Given the description of an element on the screen output the (x, y) to click on. 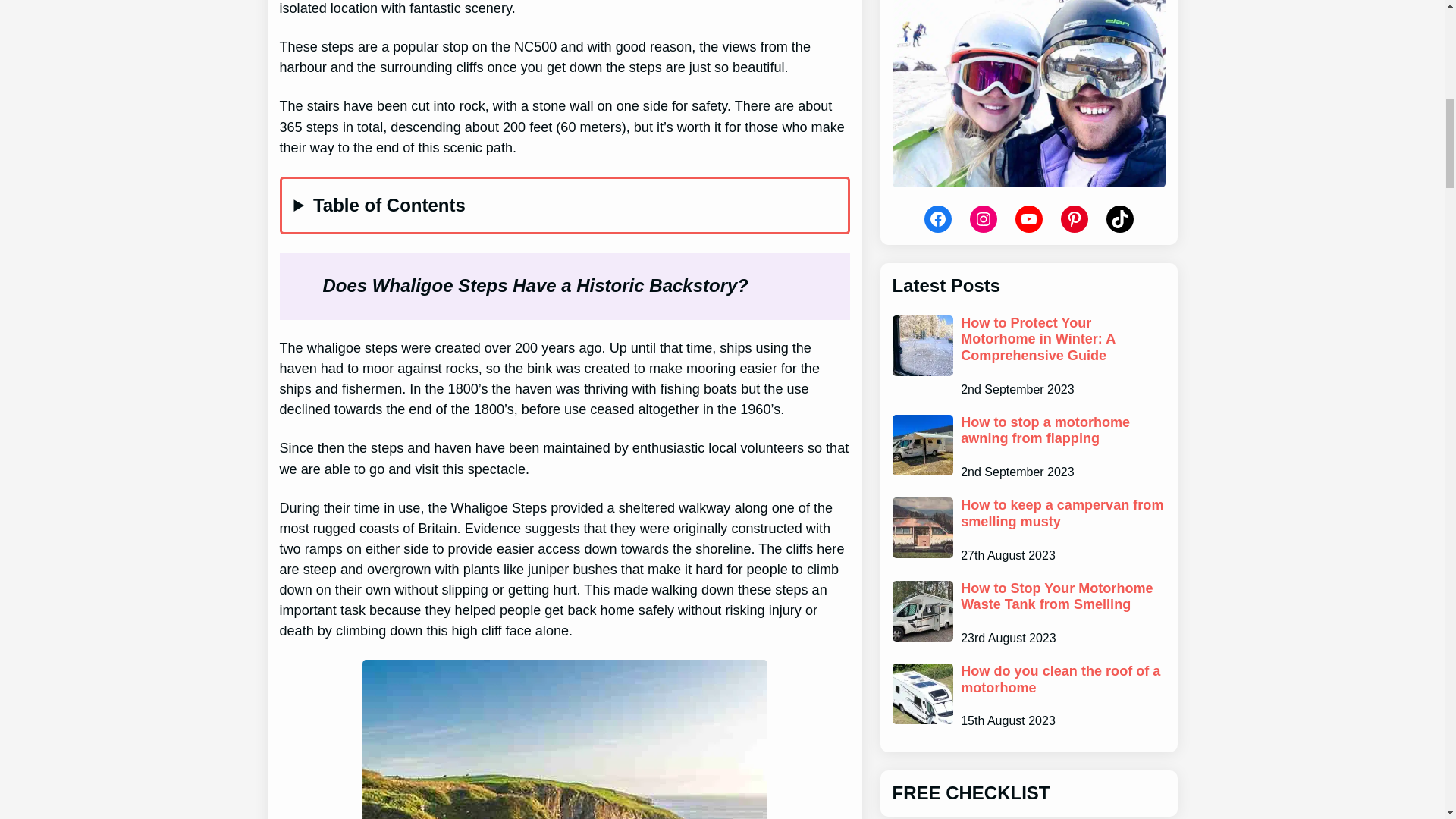
How to stop a motorhome awning from flapping 8 (921, 444)
Whaligoe Steps - A Complete Guide 2 (564, 739)
